Given the description of an element on the screen output the (x, y) to click on. 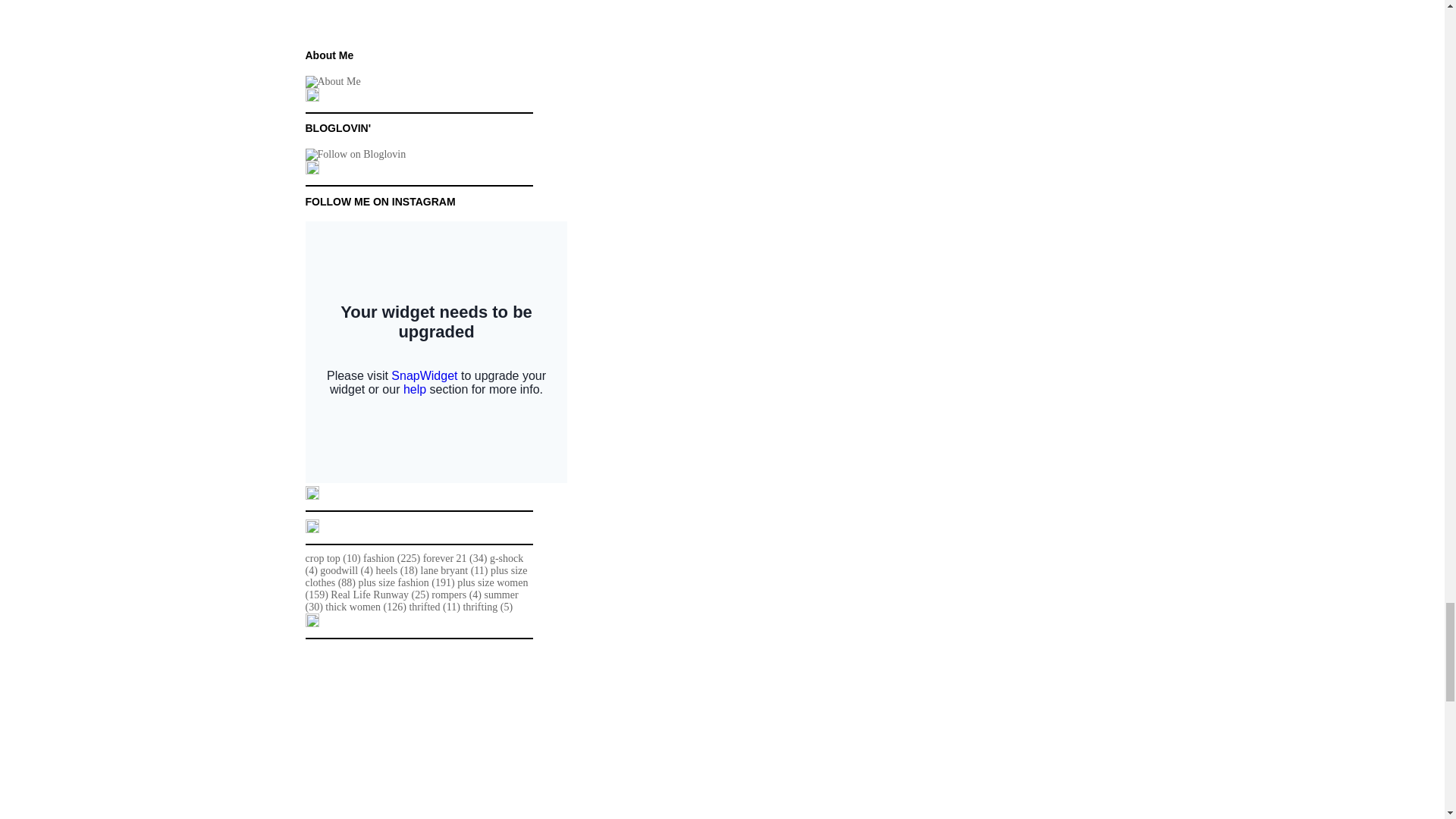
Edit (311, 496)
Edit (311, 98)
Edit (311, 170)
Edit (311, 623)
Edit (311, 529)
